Given the description of an element on the screen output the (x, y) to click on. 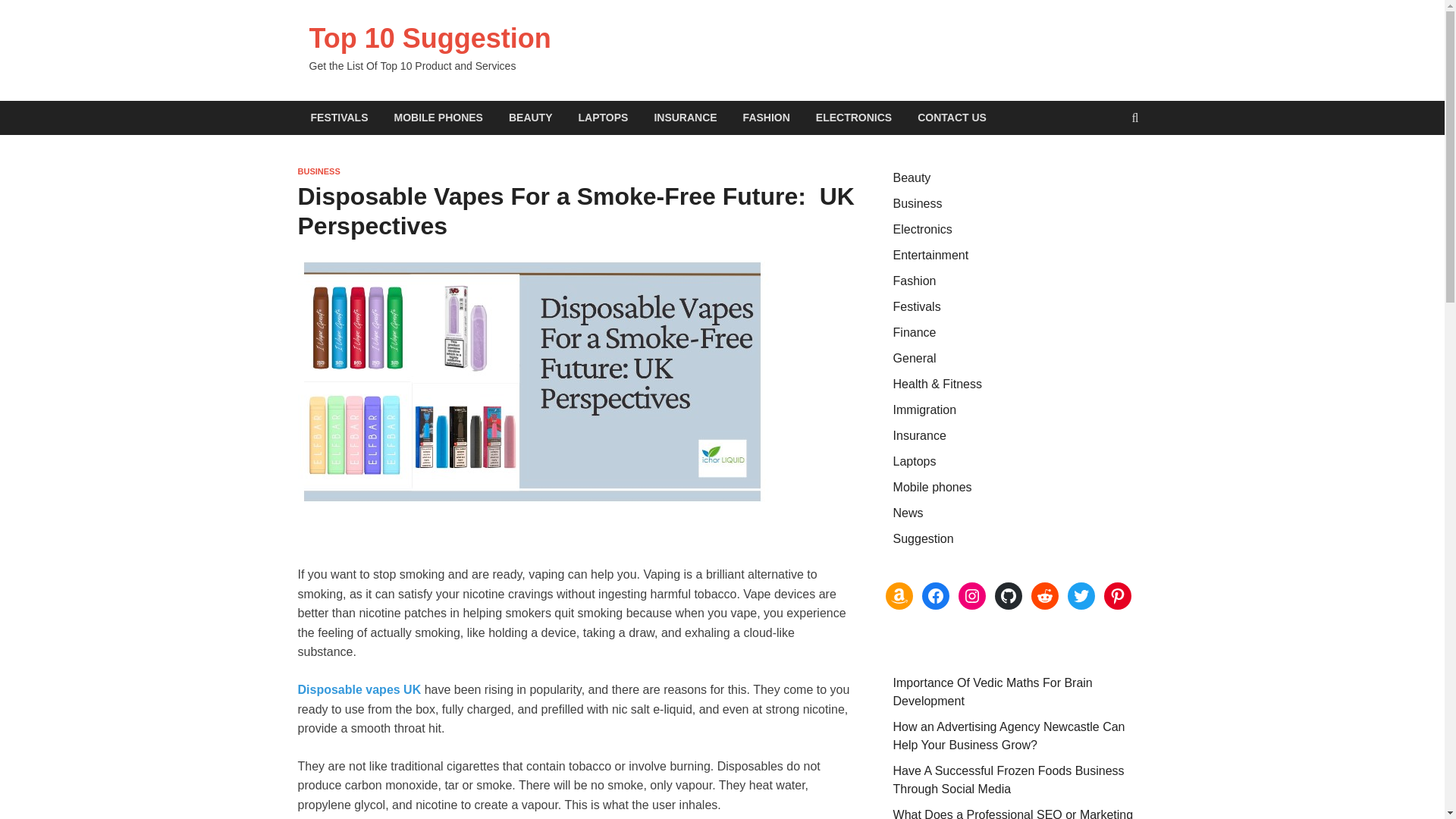
INSURANCE (684, 117)
Business (917, 203)
MOBILE PHONES (437, 117)
Immigration (924, 409)
CONTACT US (951, 117)
General (914, 358)
Entertainment (931, 254)
FESTIVALS (338, 117)
Beauty (912, 177)
BUSINESS (318, 171)
